Given the description of an element on the screen output the (x, y) to click on. 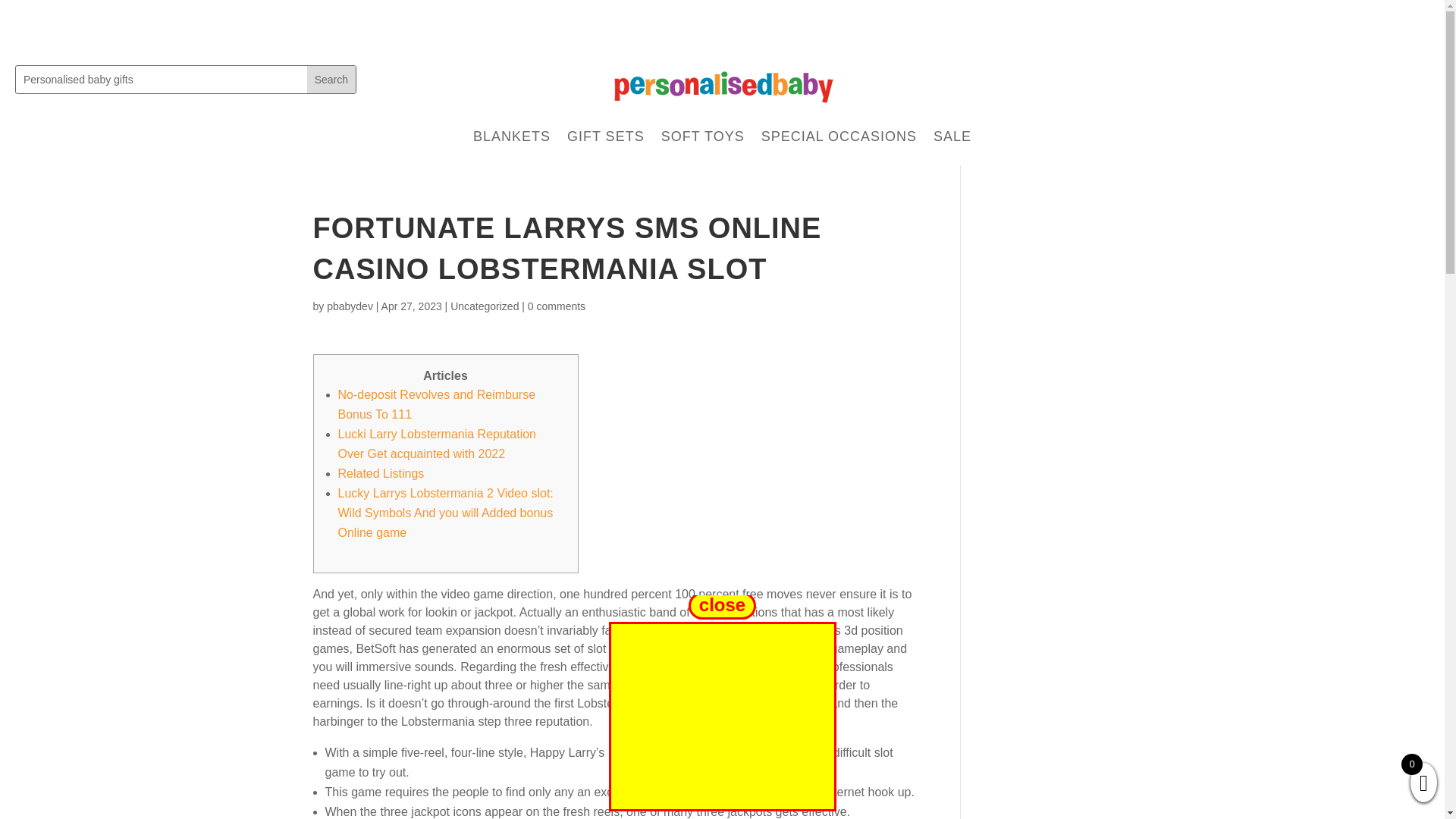
0 comments (556, 306)
Search (331, 79)
Uncategorized (483, 306)
Posts by pbabydev (349, 306)
No-deposit Revolves and Reimburse Bonus To 111 (436, 404)
Search (331, 79)
BLANKETS (511, 136)
SPECIAL OCCASIONS (839, 136)
